Given the description of an element on the screen output the (x, y) to click on. 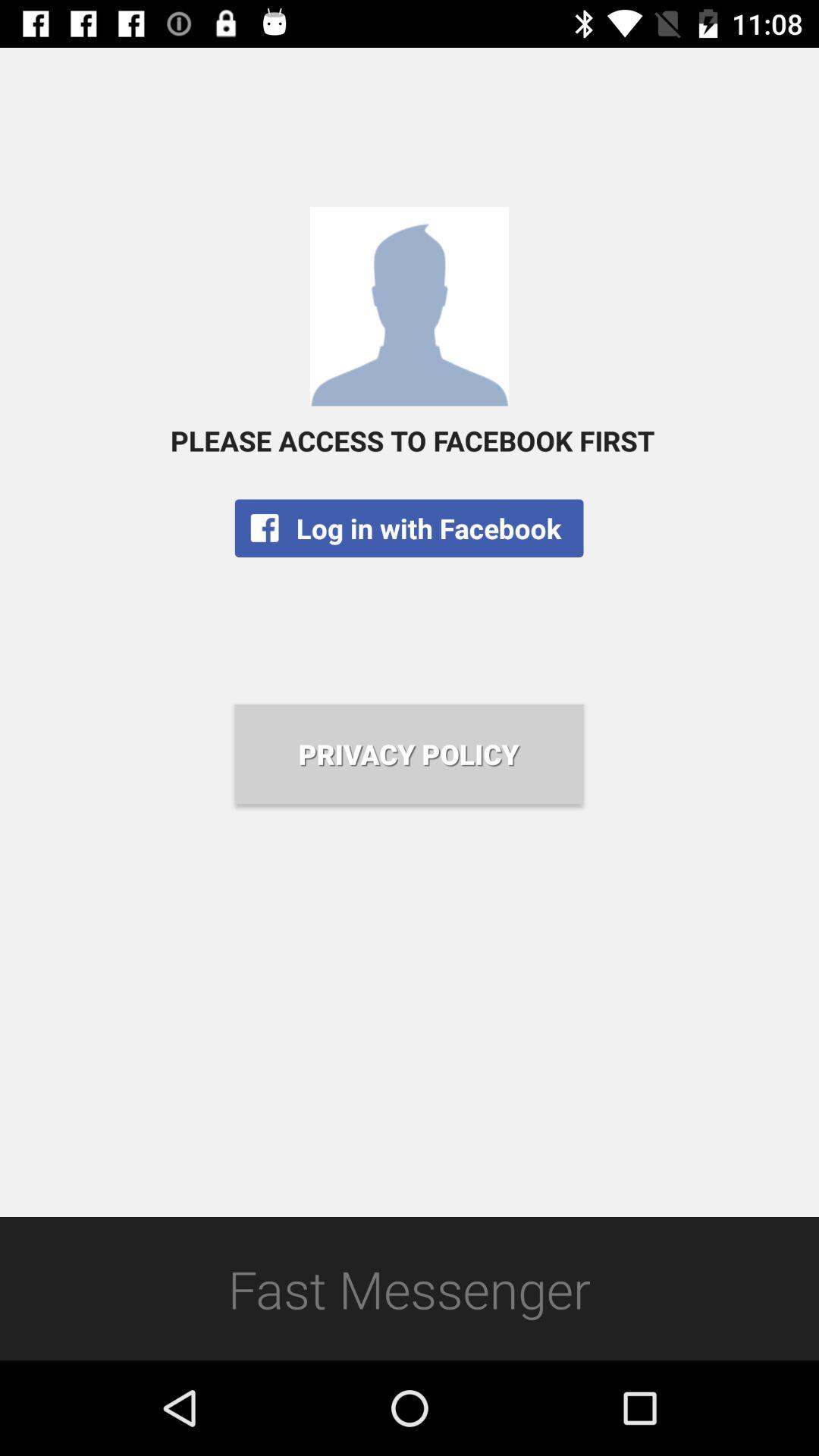
turn off the icon above the fast messenger item (408, 754)
